Given the description of an element on the screen output the (x, y) to click on. 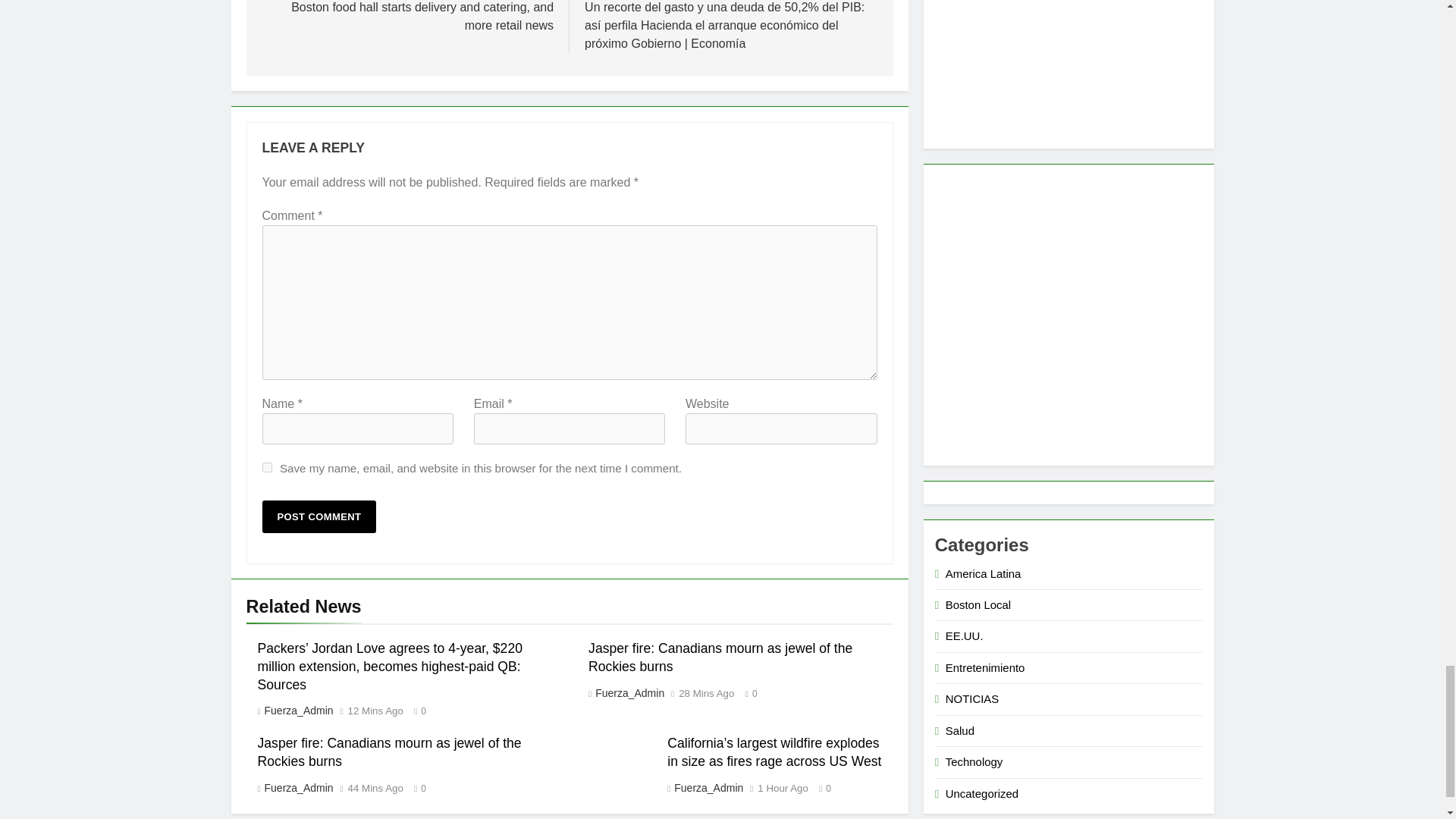
yes (267, 467)
Post Comment (319, 516)
